Given the description of an element on the screen output the (x, y) to click on. 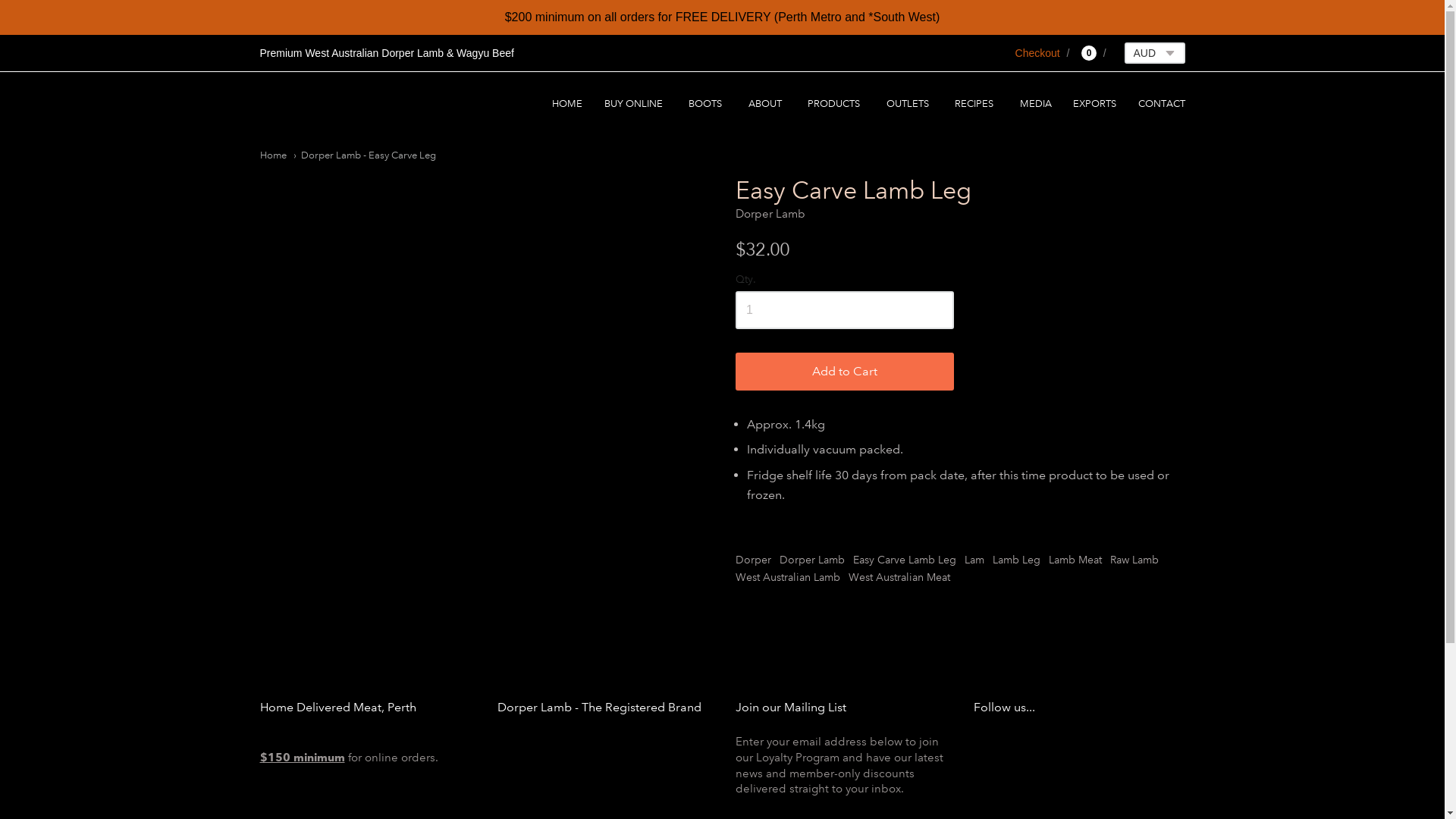
West Australian Lamb Element type: text (787, 577)
Dorper Lamb Element type: text (811, 559)
CONTACT Element type: text (1160, 103)
Checkout Element type: text (1037, 53)
West Australian Meat Element type: text (899, 577)
OUTLETS Element type: text (909, 103)
Lamb Meat Element type: text (1074, 559)
BUY ONLINE Element type: text (635, 103)
HOME Element type: text (566, 103)
ABOUT Element type: text (767, 103)
EXPORTS Element type: text (1094, 103)
BOOTS Element type: text (707, 103)
Home Element type: text (272, 155)
Add to Cart Element type: text (844, 371)
PRODUCTS Element type: text (835, 103)
RECIPES Element type: text (976, 103)
Lamb Leg Element type: text (1016, 559)
Dorper Element type: text (753, 559)
Easy Carve Lamb Leg Element type: text (904, 559)
Lam Element type: text (974, 559)
Raw Lamb Element type: text (1134, 559)
MEDIA Element type: text (1035, 103)
Dorper Lamb - Easy Carve Leg Element type: text (363, 155)
0 Element type: text (1085, 53)
Dorper Lamb Element type: text (770, 213)
